Given the description of an element on the screen output the (x, y) to click on. 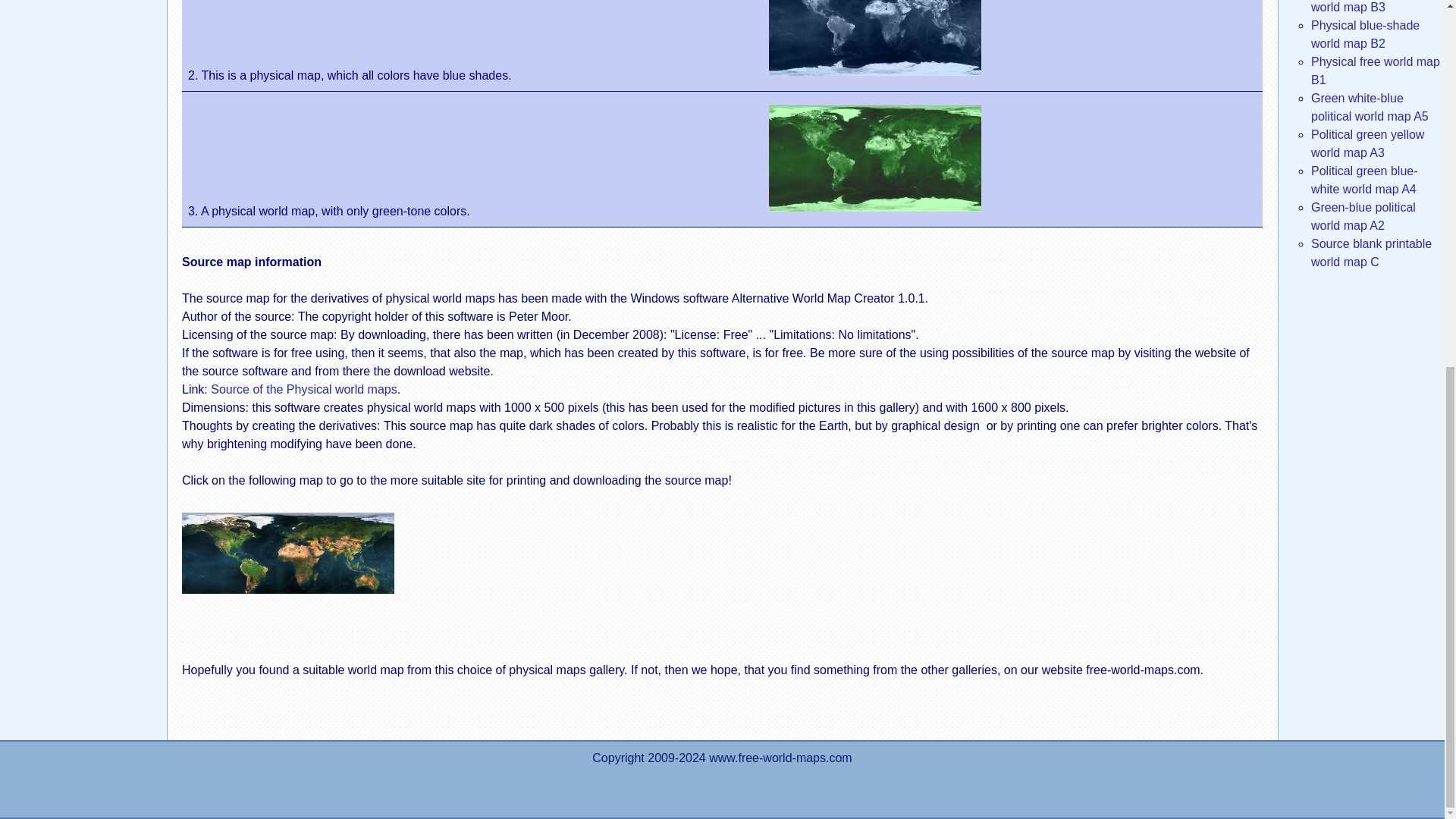
Green-blue political world map A2 (1363, 215)
Advertisement (83, 16)
Physical green-tone world map B3 (1364, 6)
Source of the Physical world maps (303, 389)
Physical blue-shade world map B2 (1365, 33)
Political green blue-white world map A4 (1364, 179)
Political green yellow world map A3 (1367, 142)
www.free-world-maps.com (780, 757)
Physical free world map B1 (1375, 70)
Source blank printable world map C (1371, 252)
